Given the description of an element on the screen output the (x, y) to click on. 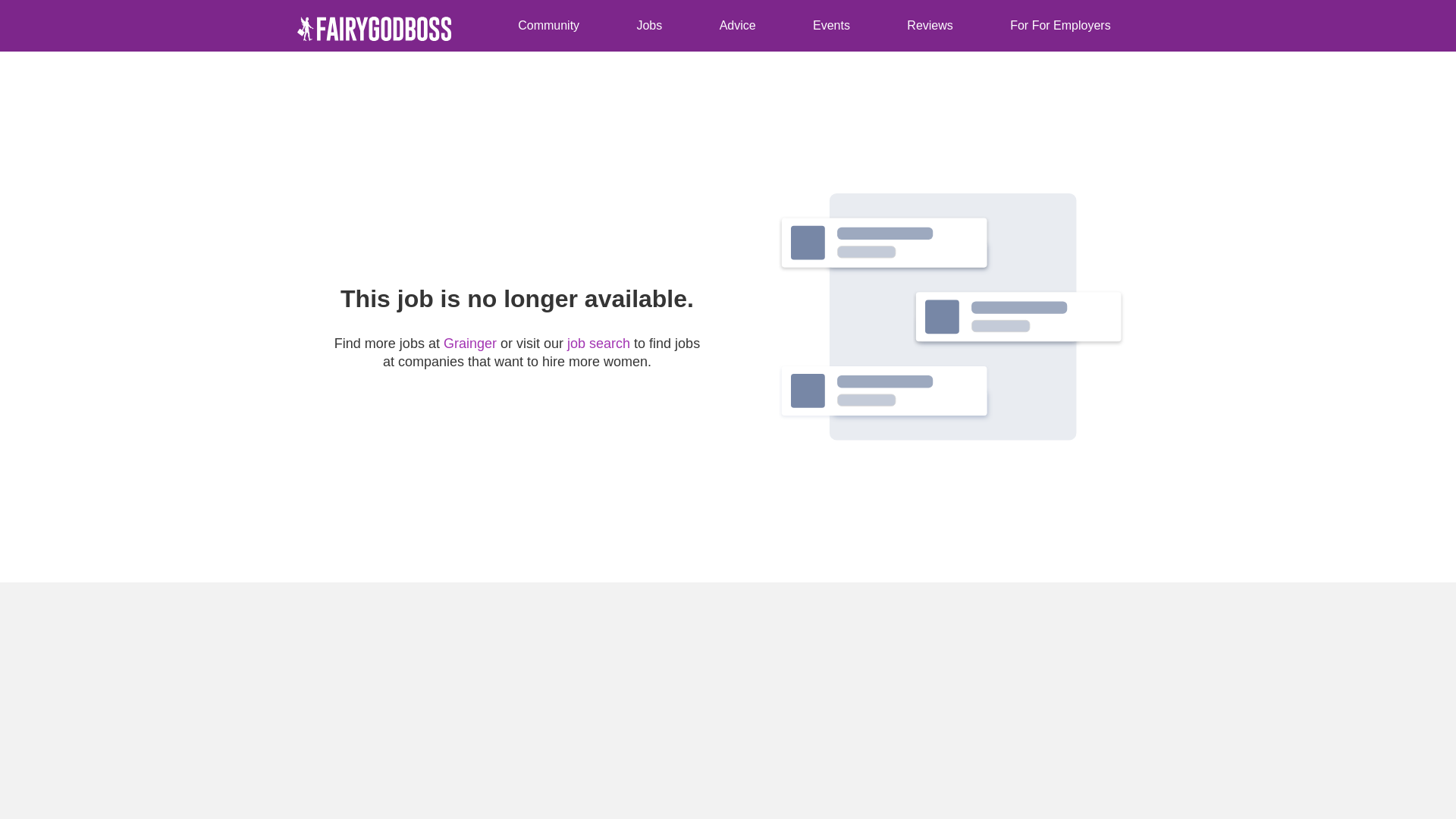
Events (831, 25)
Community (548, 25)
Advice (737, 25)
Advice (609, 25)
Advice (737, 25)
Reviews (744, 25)
Get Started (1124, 25)
Events (831, 25)
Jobs (549, 25)
Community (548, 25)
